Given the description of an element on the screen output the (x, y) to click on. 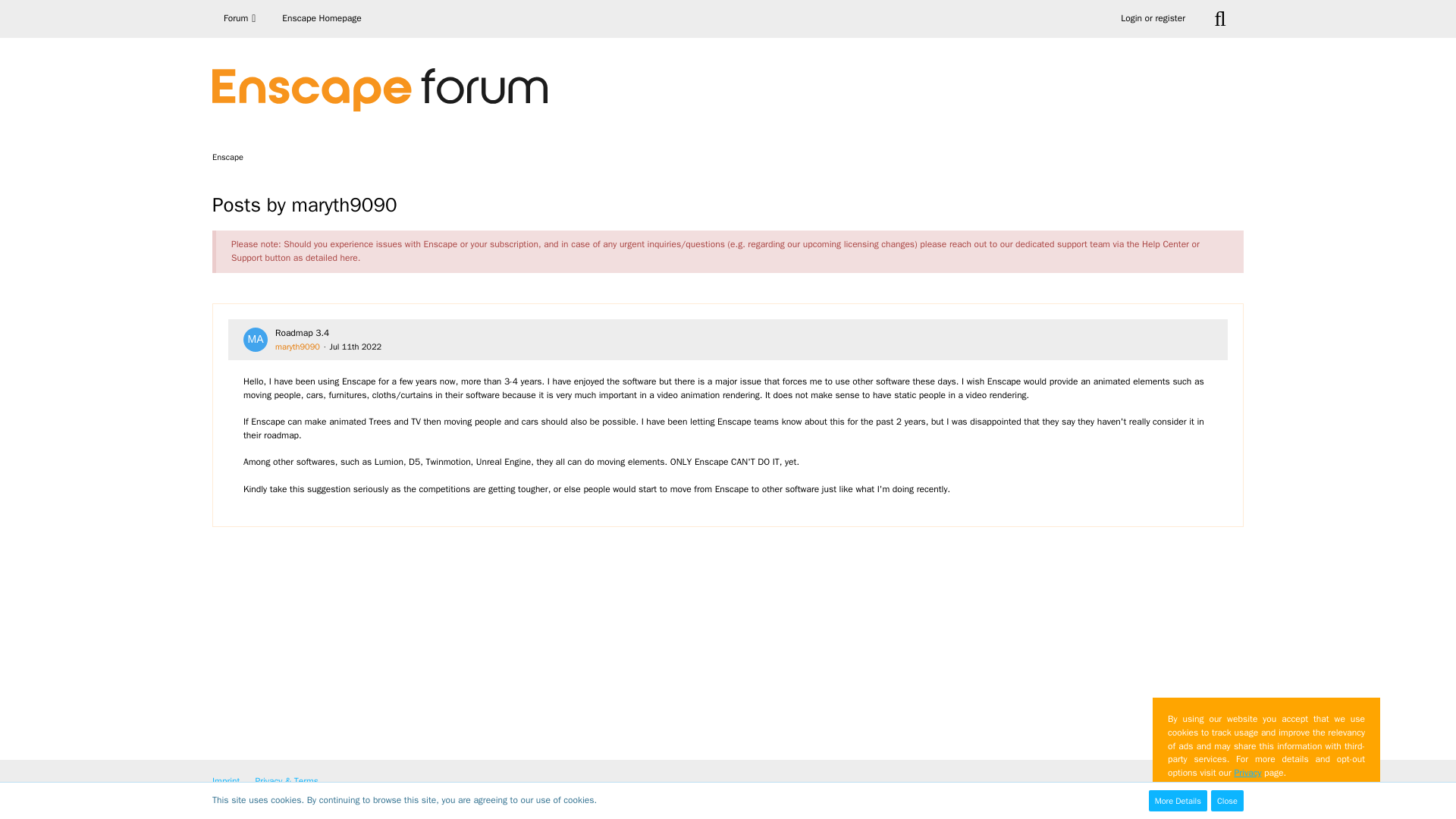
Jul 11th 2022 (355, 346)
Forum (241, 18)
More Details (1177, 800)
Enscape (227, 156)
here. (350, 257)
e.g. regarding our upcoming licensing changes (822, 244)
Login or register (1152, 18)
Imprint (226, 780)
Privacy (1246, 772)
Enscape Homepage (321, 18)
maryth9090 (297, 346)
Close (1227, 800)
Roadmap 3.4 (302, 332)
Enscape (227, 156)
